Given the description of an element on the screen output the (x, y) to click on. 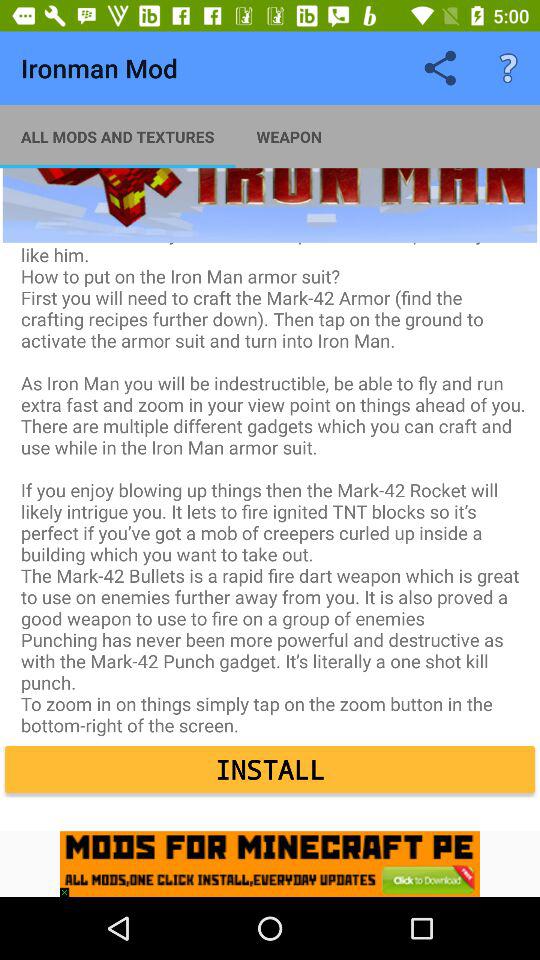
flip until the weapon app (289, 136)
